Given the description of an element on the screen output the (x, y) to click on. 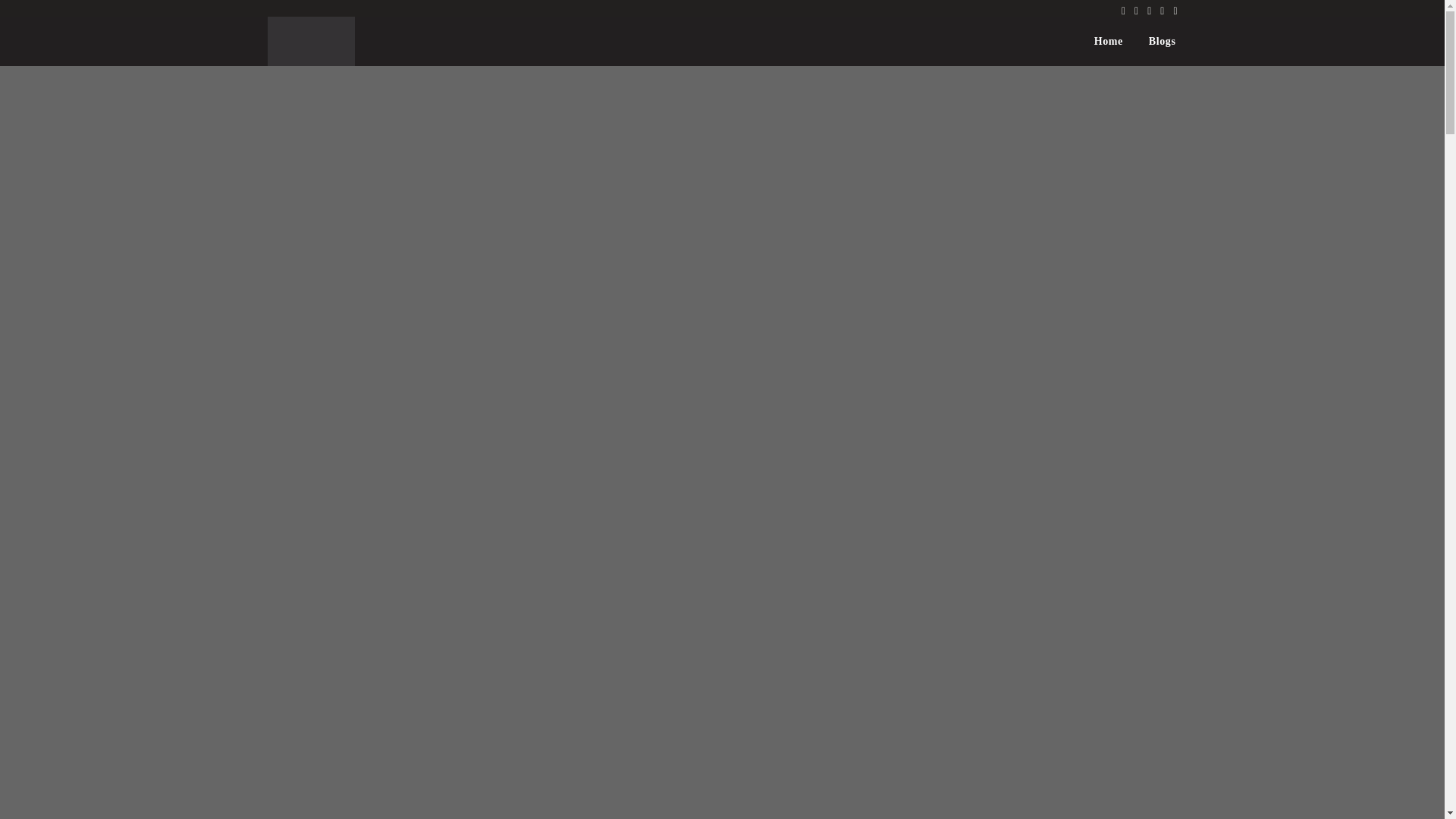
Home (1108, 41)
Blogs (1162, 41)
